Given the description of an element on the screen output the (x, y) to click on. 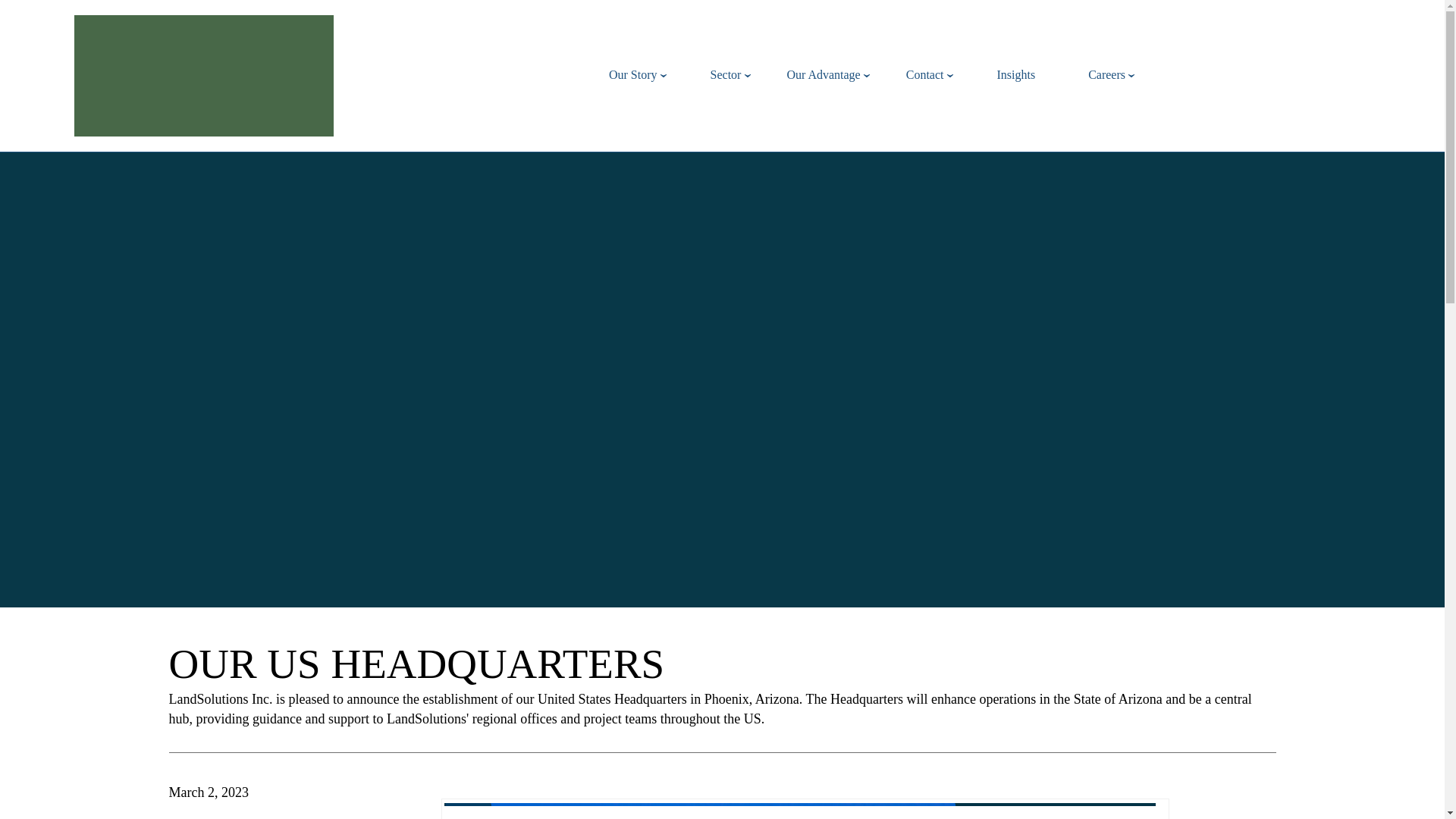
Insights (1018, 74)
